Given the description of an element on the screen output the (x, y) to click on. 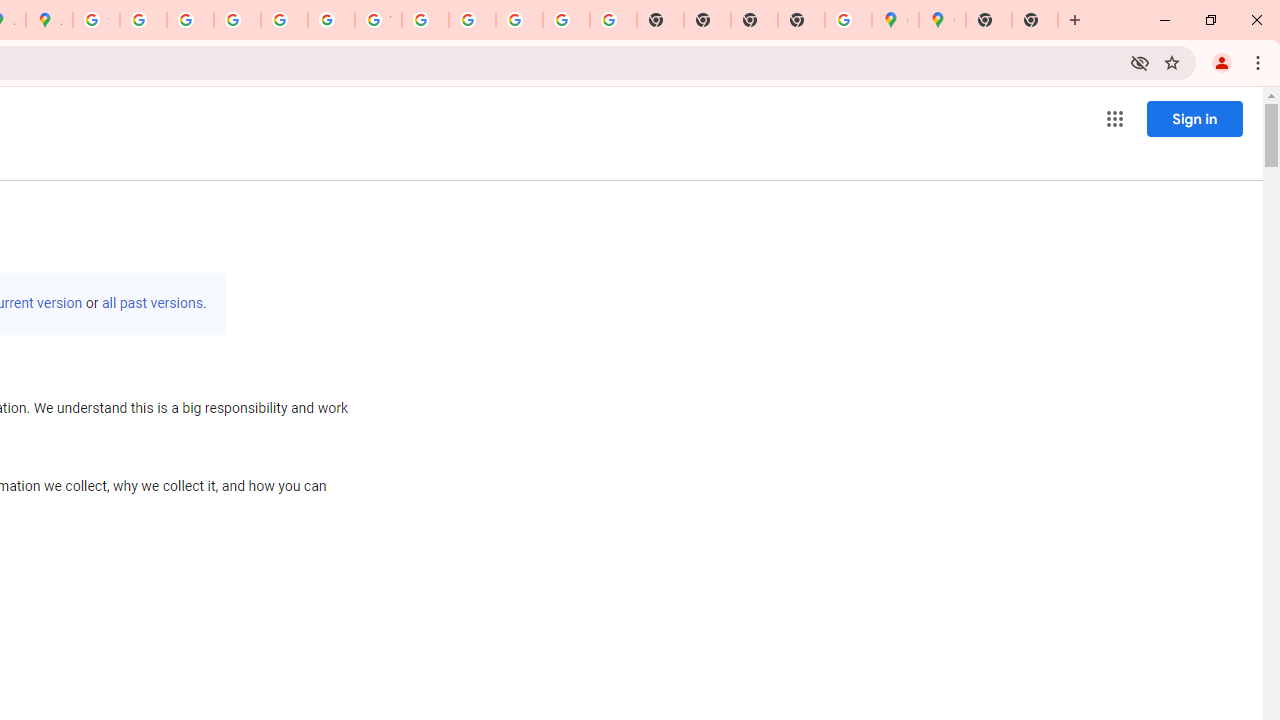
Use Google Maps in Space - Google Maps Help (848, 20)
